Given the description of an element on the screen output the (x, y) to click on. 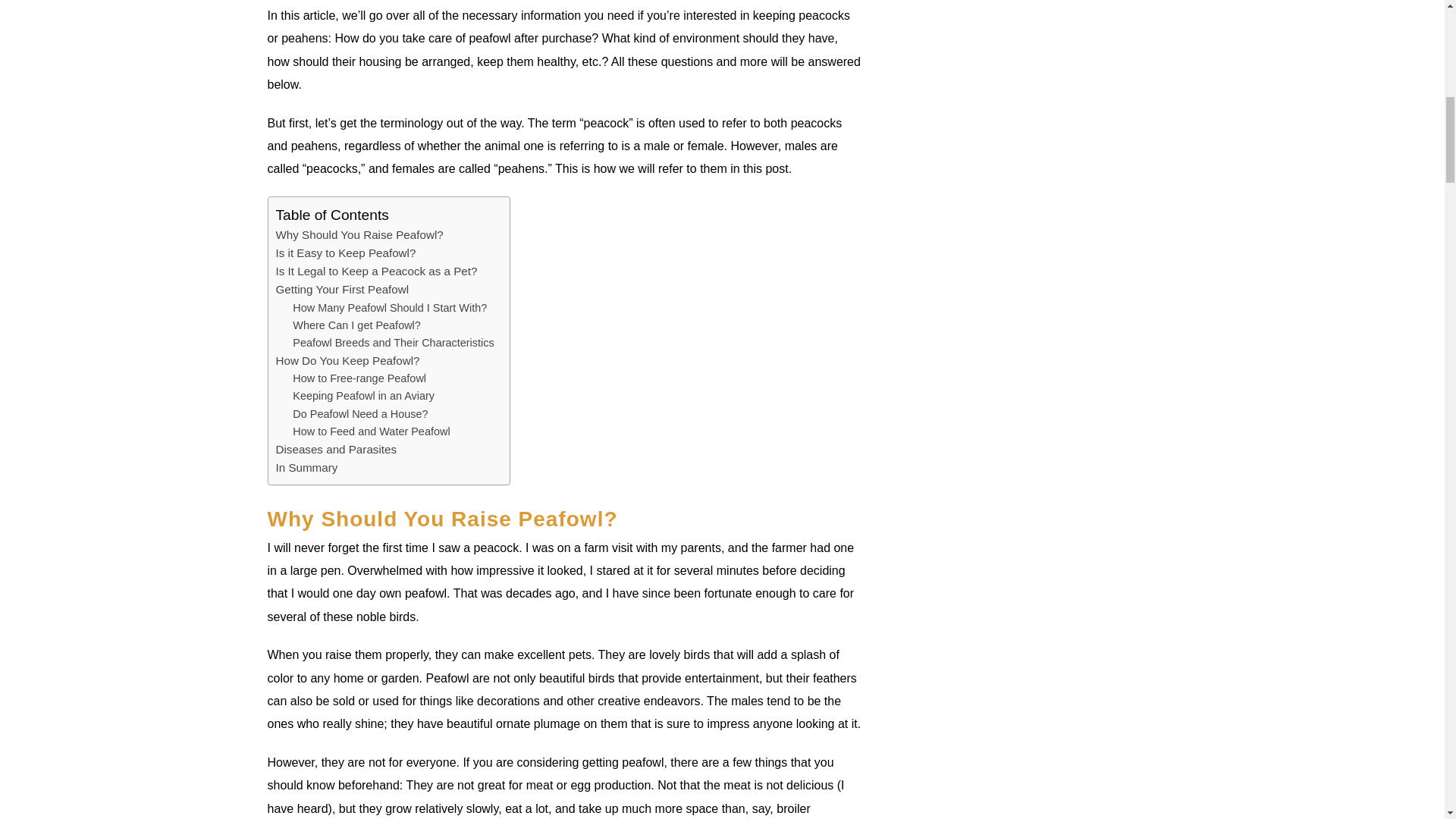
Keeping Peafowl in an Aviary (362, 395)
Peafowl Breeds and Their Characteristics (392, 343)
How Many Peafowl Should I Start With? (389, 307)
Do Peafowl Need a House? (360, 414)
In Summary (306, 467)
Diseases and Parasites (336, 449)
Diseases and Parasites (336, 449)
How to Free-range Peafowl (359, 378)
Why Should You Raise Peafowl? (360, 235)
How Do You Keep Peafowl? (348, 361)
